Given the description of an element on the screen output the (x, y) to click on. 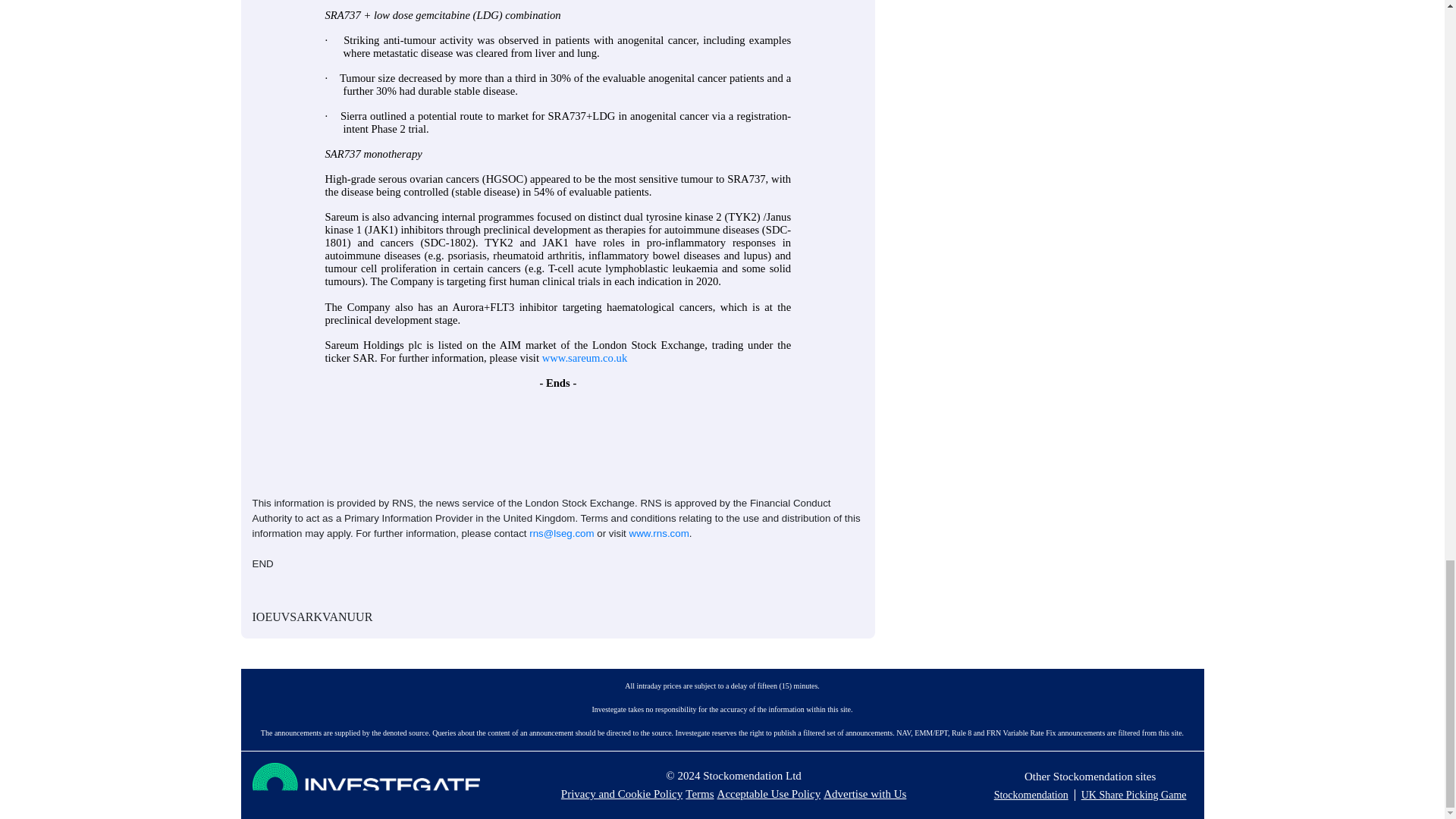
Privacy and Cookie Policy (621, 793)
Other Stockomendation sites (1090, 776)
Terms (699, 793)
www.rns.com (658, 532)
Acceptable Use Policy (769, 793)
Advertise with Us (864, 793)
www.sareum.co.uk (584, 357)
